Given the description of an element on the screen output the (x, y) to click on. 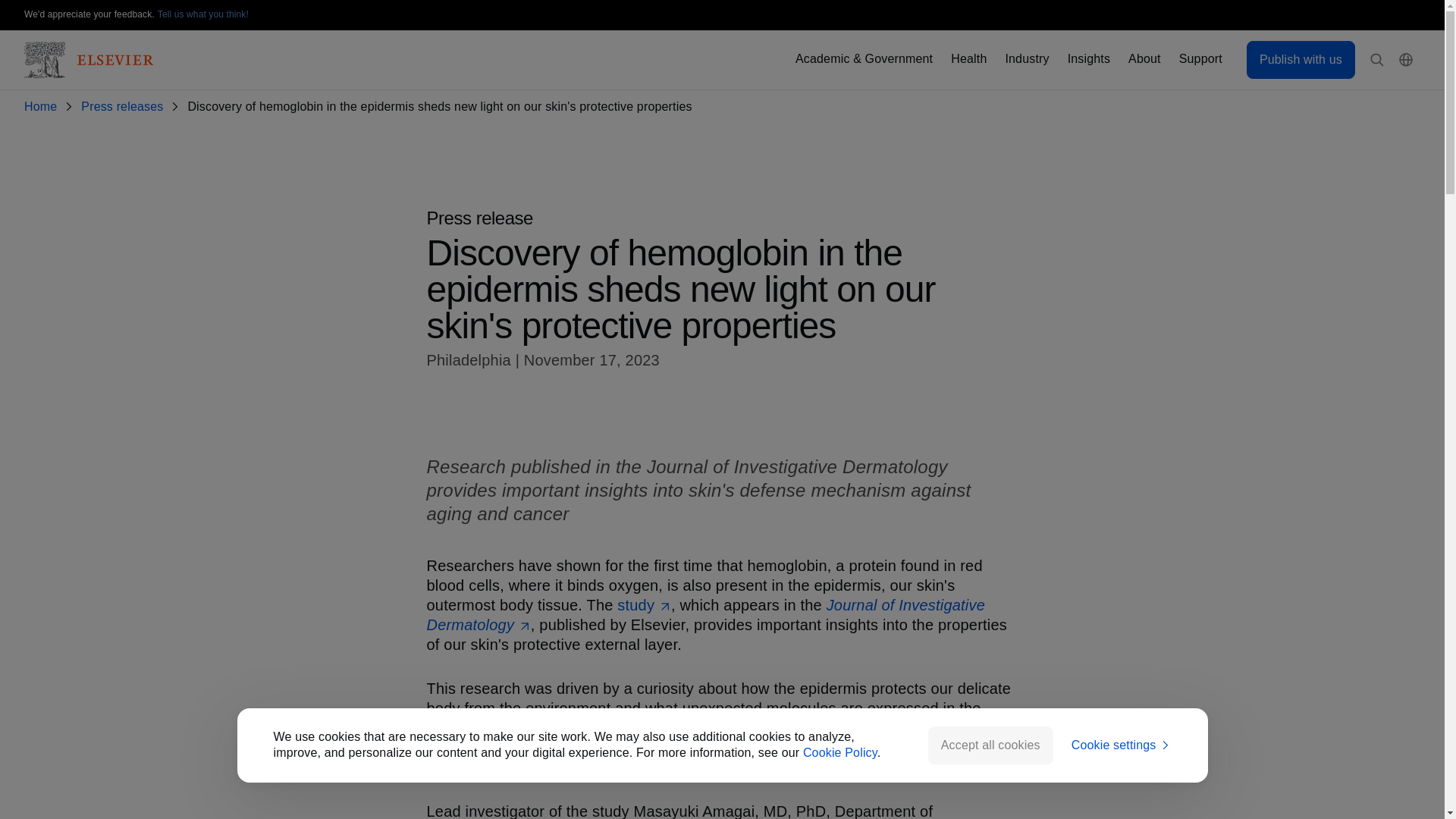
Home (43, 107)
About (1144, 59)
Location Selector (1406, 59)
Accept all cookies (990, 745)
Insights (1088, 59)
Support (1201, 59)
Open Search (1376, 59)
Press releases (124, 107)
Industry (1026, 59)
Health (968, 59)
